Given the description of an element on the screen output the (x, y) to click on. 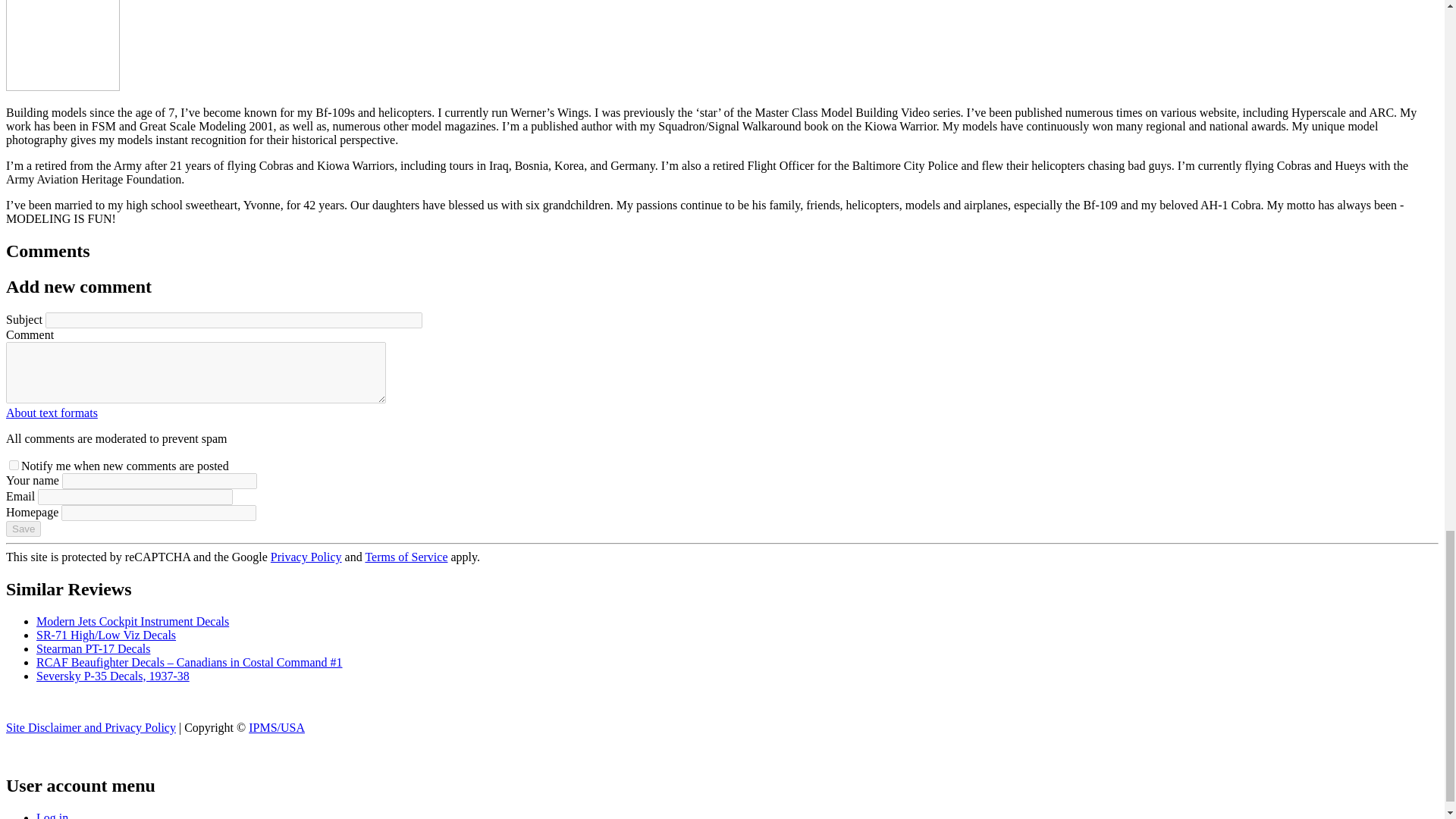
Terms of Service (405, 556)
Save (22, 528)
Modern Jets Cockpit Instrument Decals (132, 621)
Opens in new window (51, 412)
Privacy Policy (306, 556)
1 (13, 465)
About text formats (51, 412)
